Given the description of an element on the screen output the (x, y) to click on. 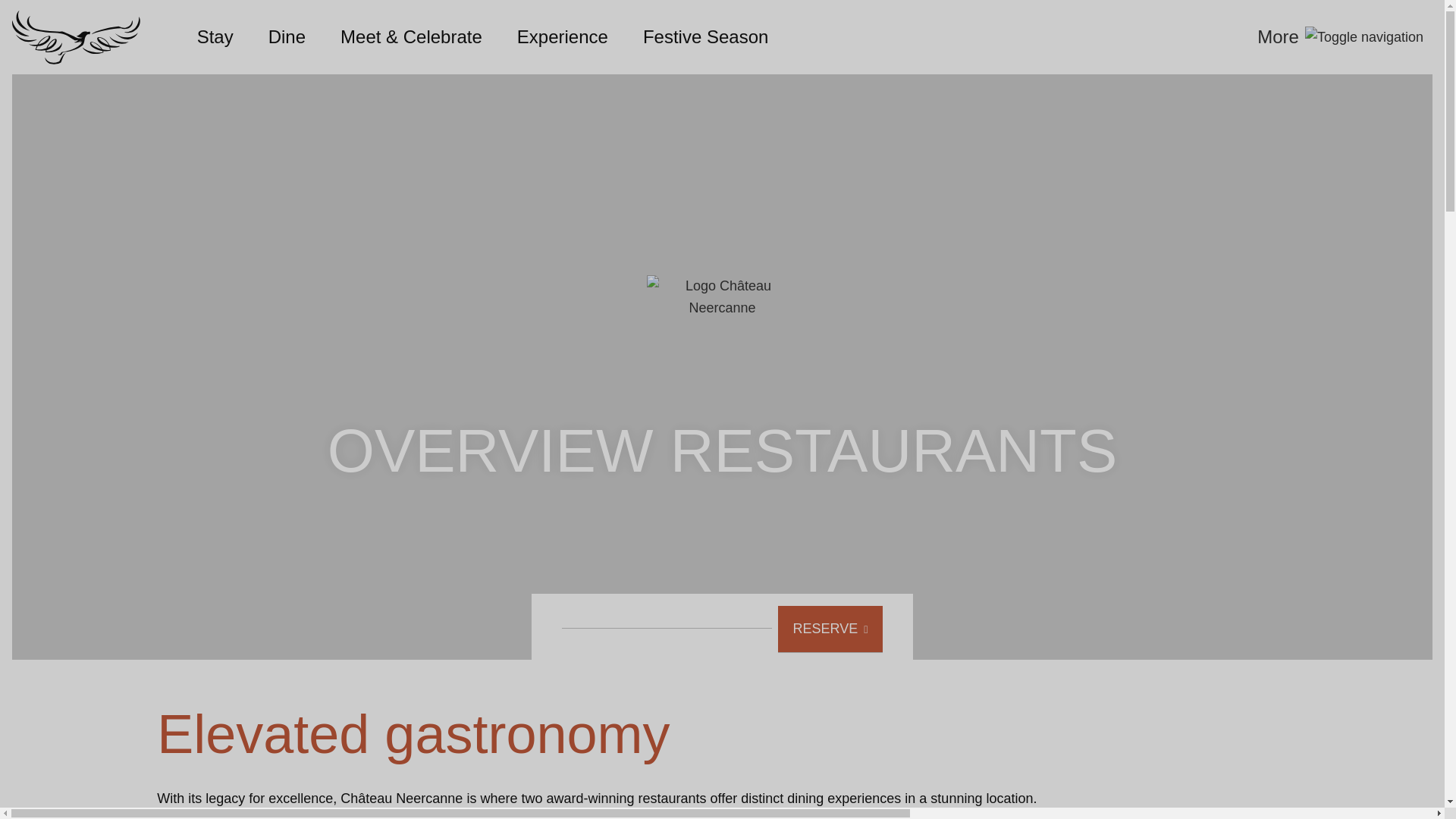
Festive Season (705, 36)
Stay (215, 36)
Experience (562, 36)
Dine (286, 36)
